Given the description of an element on the screen output the (x, y) to click on. 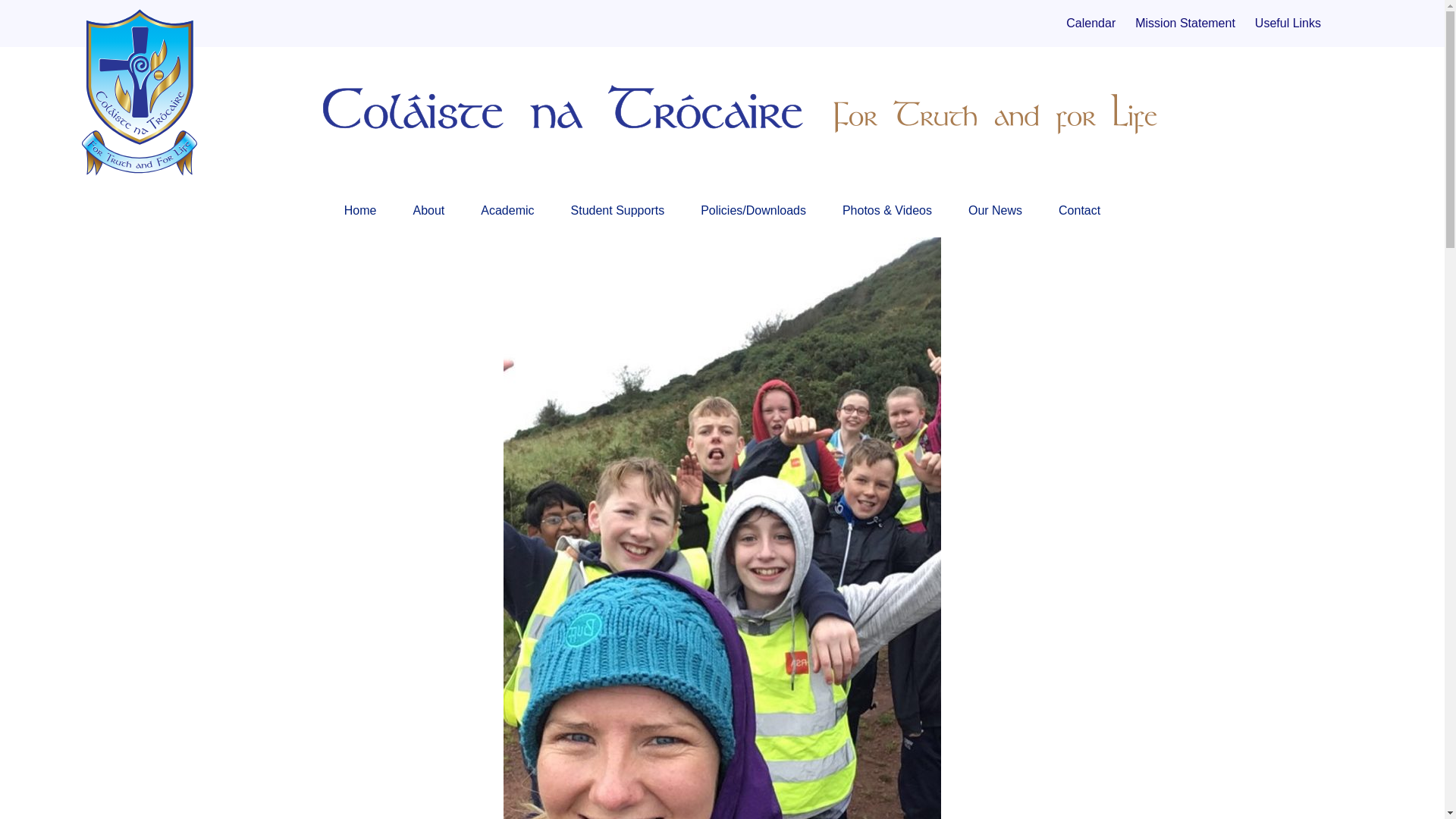
Useful Links (1287, 23)
Calendar (1091, 23)
Home (360, 214)
About (428, 214)
Our News (995, 214)
Academic (507, 214)
Contact (1079, 214)
Student Supports (617, 214)
Mission Statement (1184, 23)
